Given the description of an element on the screen output the (x, y) to click on. 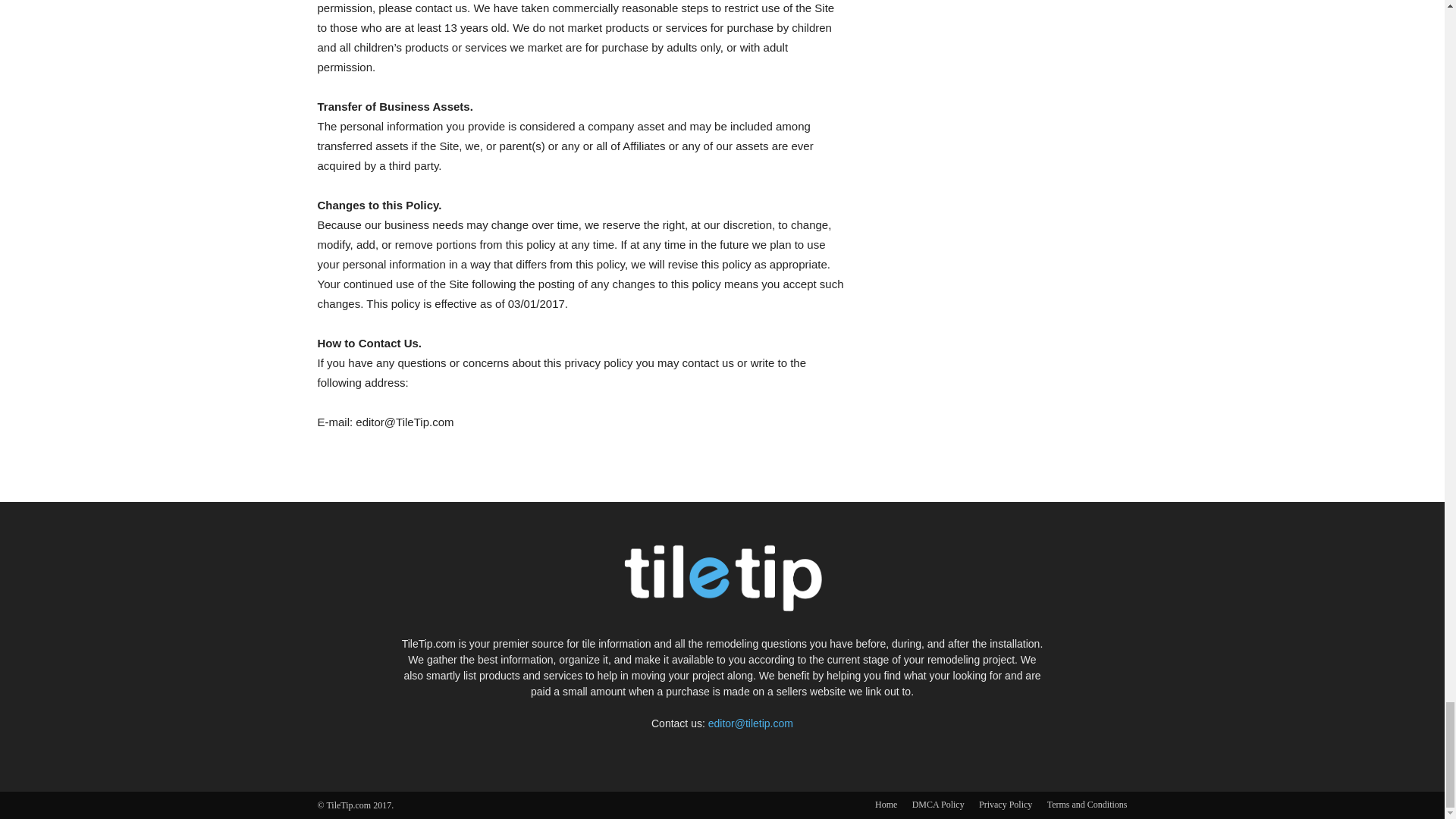
Privacy Policy (1005, 804)
Terms and Conditions (1086, 804)
DMCA Policy (937, 804)
Home (885, 804)
